Given the description of an element on the screen output the (x, y) to click on. 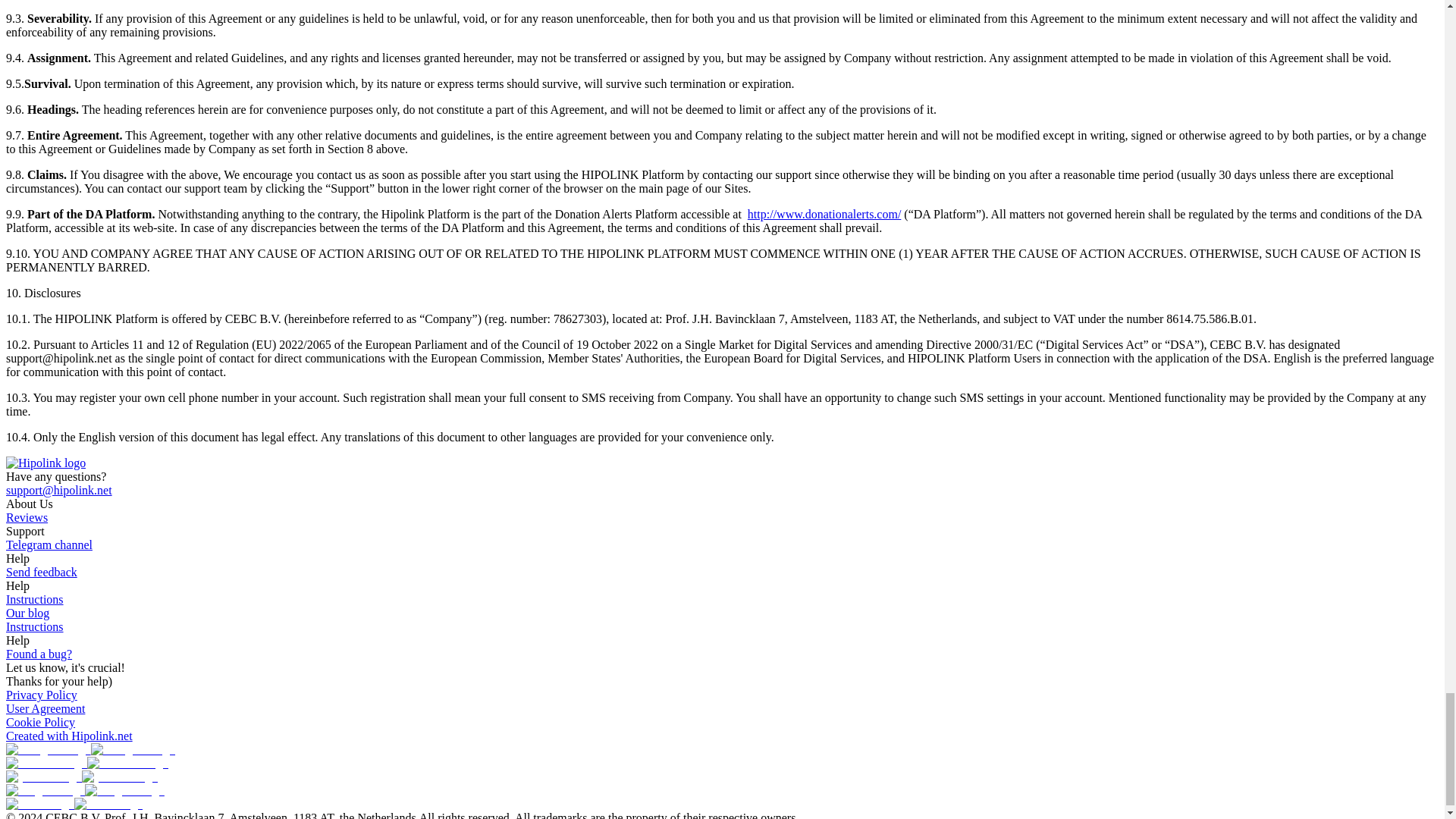
Telegram channel (49, 544)
Our blog (27, 612)
Cookie Policy (40, 721)
Privacy Policy (41, 694)
User Agreement (44, 707)
Send feedback (41, 571)
Instructions (34, 599)
Instructions (34, 626)
Help (17, 558)
Reviews (26, 517)
